Given the description of an element on the screen output the (x, y) to click on. 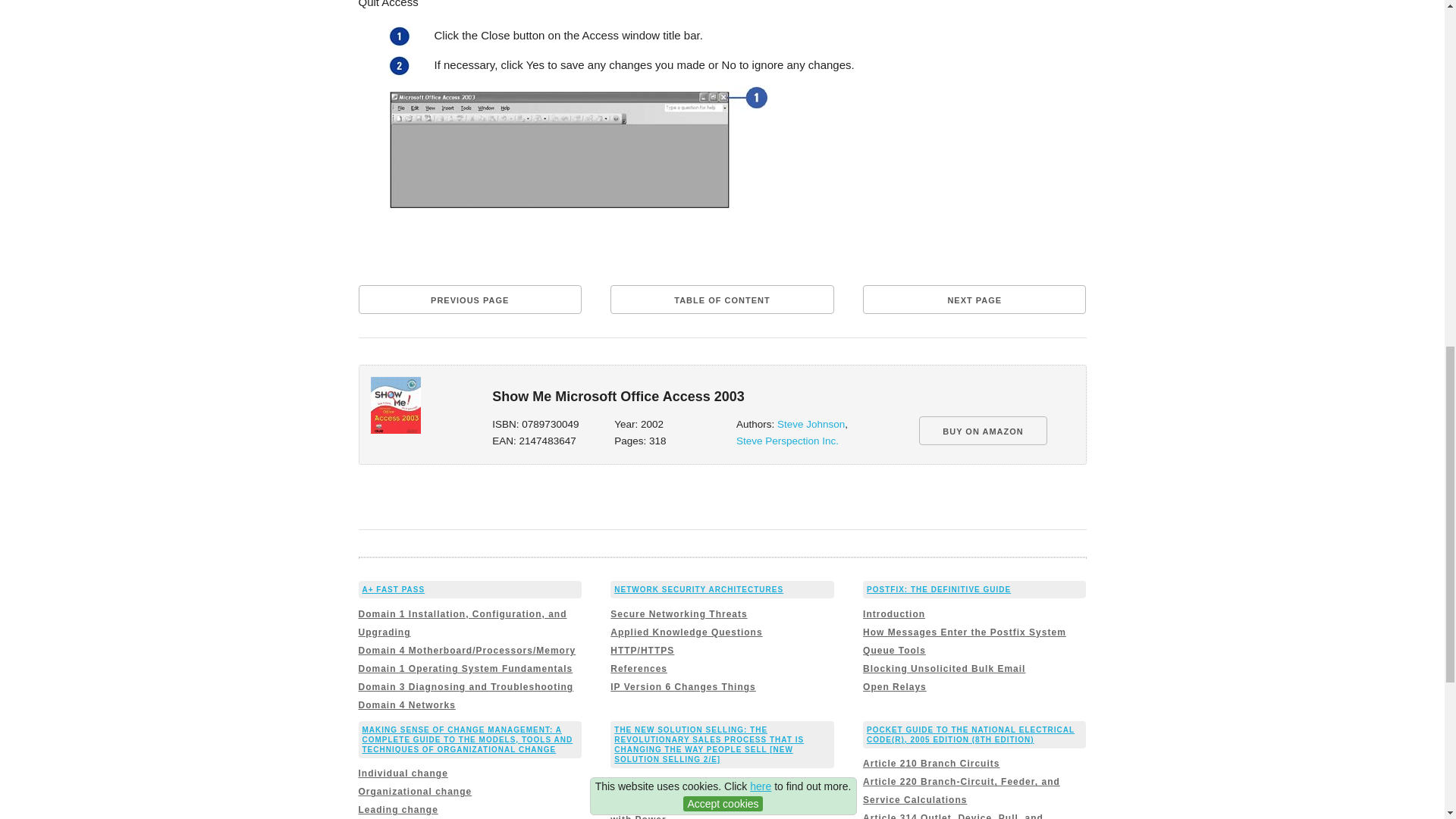
Introduction (893, 614)
Domain 3 Diagnosing and Troubleshooting (465, 686)
Domain 1 Installation, Configuration, and Upgrading (462, 623)
Blocking Unsolicited Bulk Email (944, 668)
Applied Knowledge Questions (685, 632)
Chapter Nine Selling When You re Not First (719, 783)
Domain 4 Networks (406, 705)
NEXT PAGE (974, 299)
POSTFIX: THE DEFINITIVE GUIDE (938, 589)
Steve Perspection Inc. (787, 440)
Chapter Eleven Gaining Access to People with Power (715, 807)
BUY ON AMAZON (982, 430)
Steve Johnson (810, 423)
Domain 1 Operating System Fundamentals (465, 668)
Organizational change (414, 791)
